Given the description of an element on the screen output the (x, y) to click on. 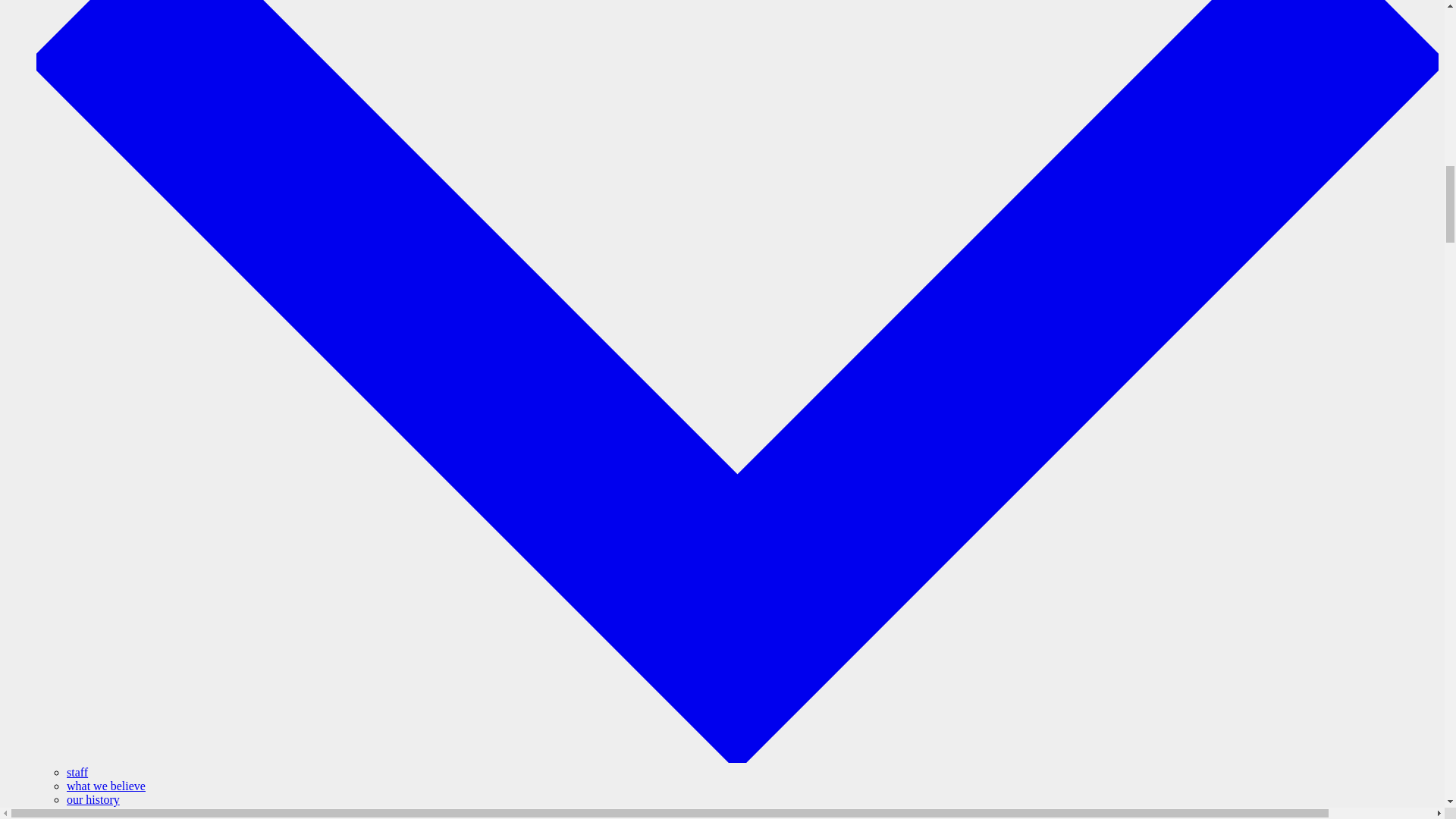
staff (76, 771)
our history (92, 799)
what we believe (105, 785)
Faith Christian School (90, 812)
